Given the description of an element on the screen output the (x, y) to click on. 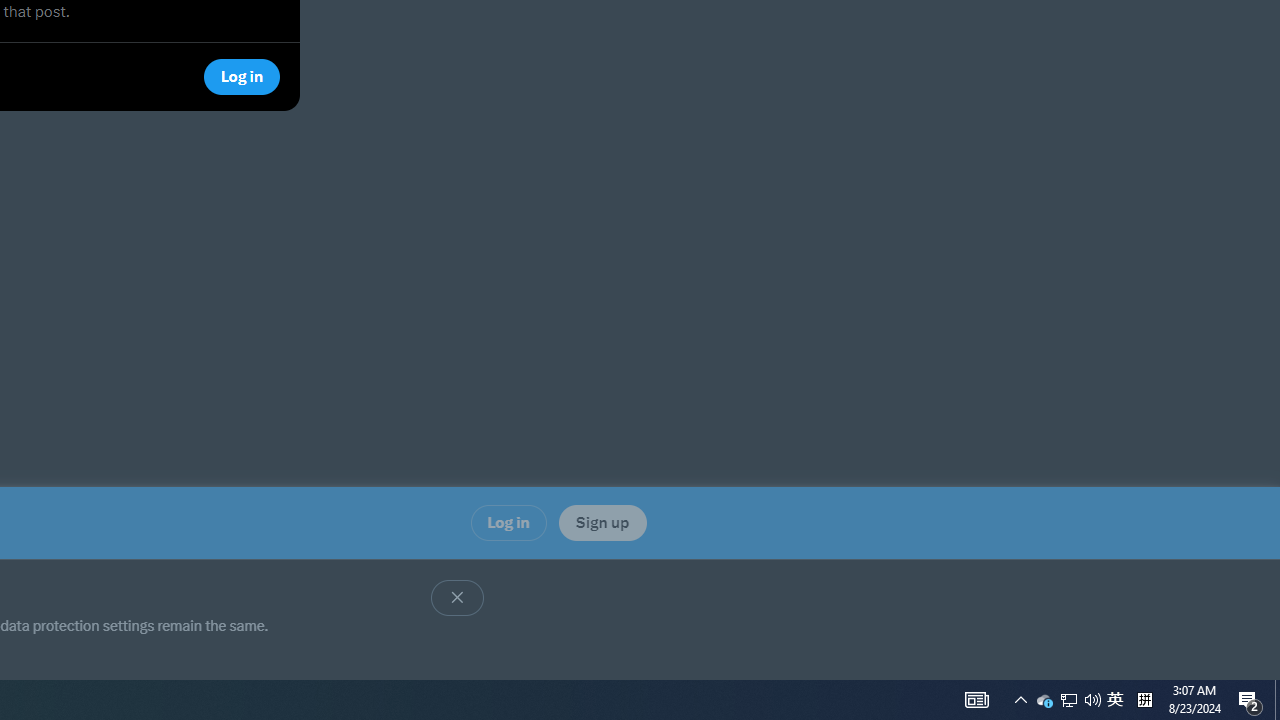
Sign up (602, 522)
Log in (507, 522)
